Given the description of an element on the screen output the (x, y) to click on. 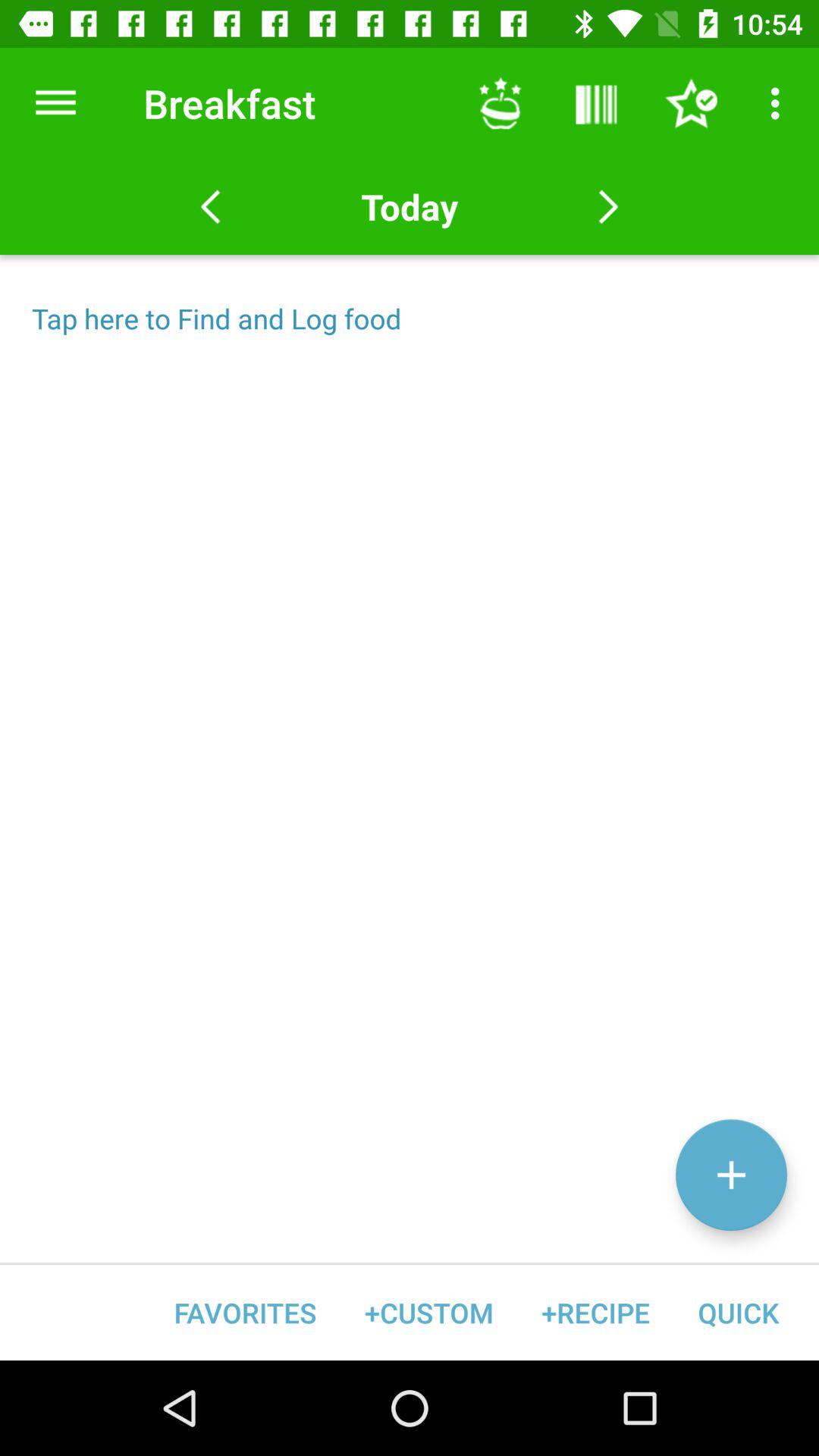
go back (210, 206)
